Given the description of an element on the screen output the (x, y) to click on. 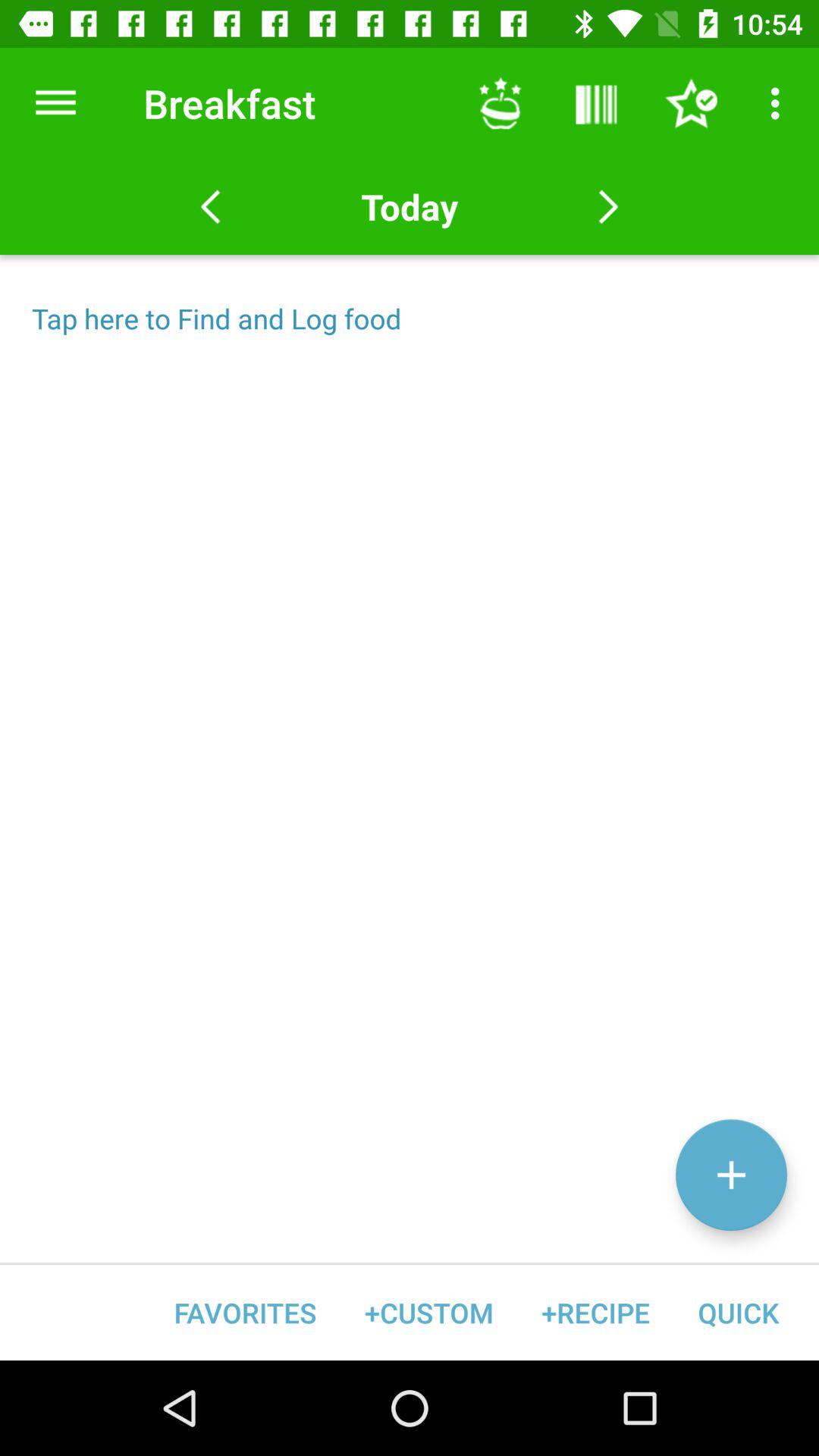
go back (210, 206)
